Given the description of an element on the screen output the (x, y) to click on. 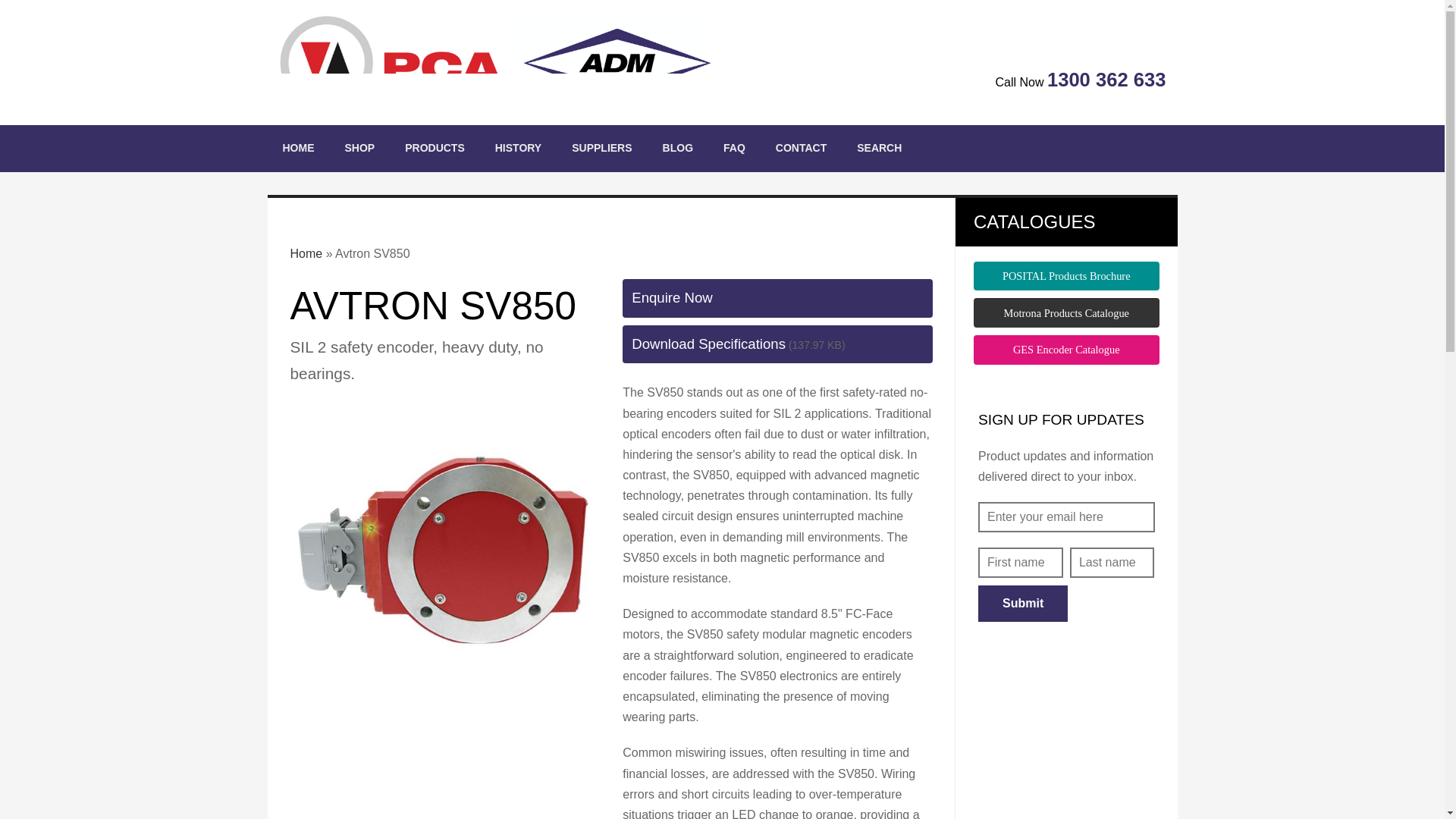
1300 362 633 (1106, 79)
Home (297, 148)
Back to home (494, 62)
BLOG (677, 148)
Shop (359, 148)
HISTORY (518, 148)
SHOP (359, 148)
SUPPLIERS (601, 148)
FAQ (733, 148)
